Given the description of an element on the screen output the (x, y) to click on. 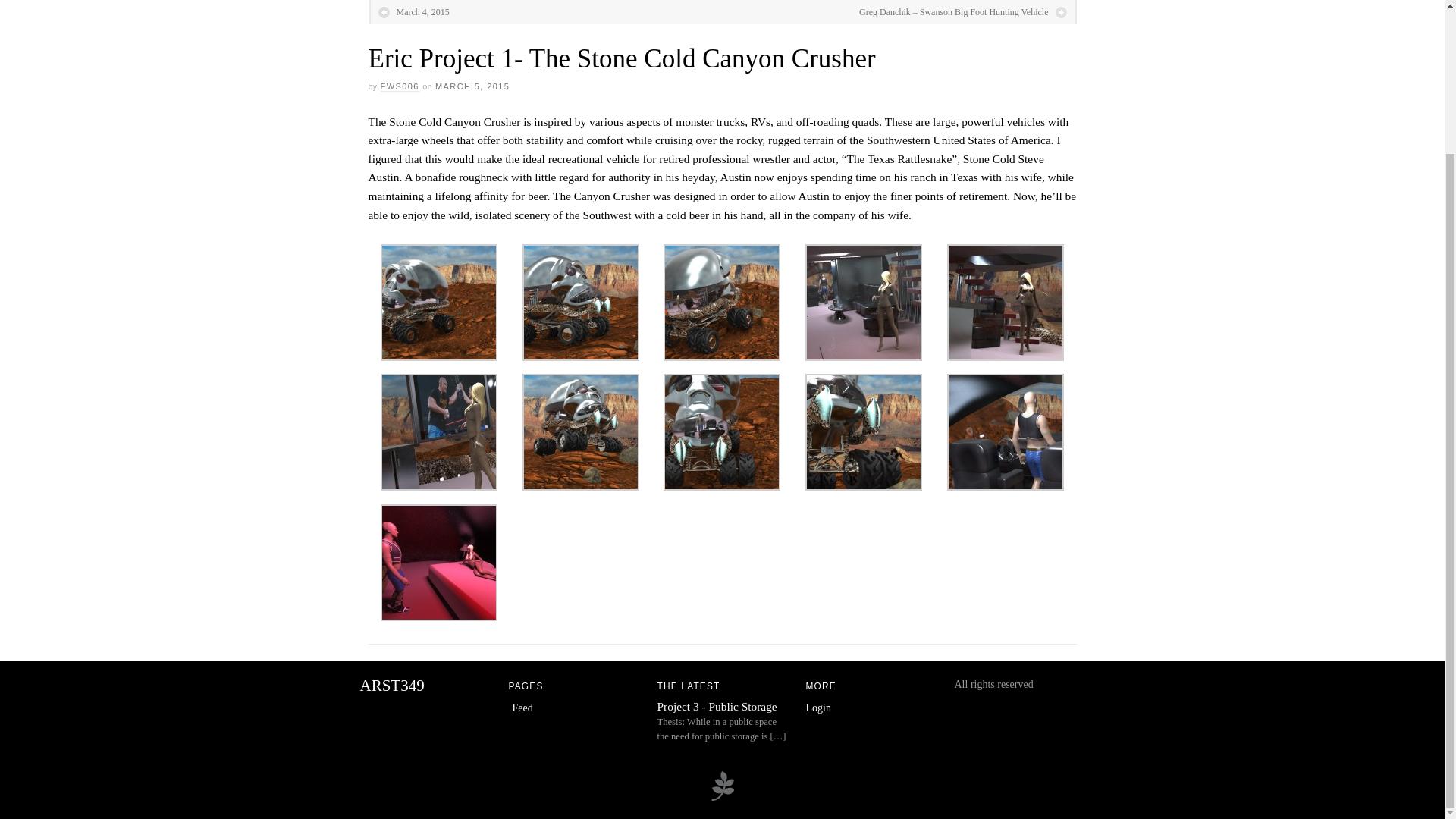
Posts by fws006 (399, 86)
March 4, 2015 (412, 12)
FWS006 (399, 86)
PageLines (722, 797)
Home (391, 685)
